Given the description of an element on the screen output the (x, y) to click on. 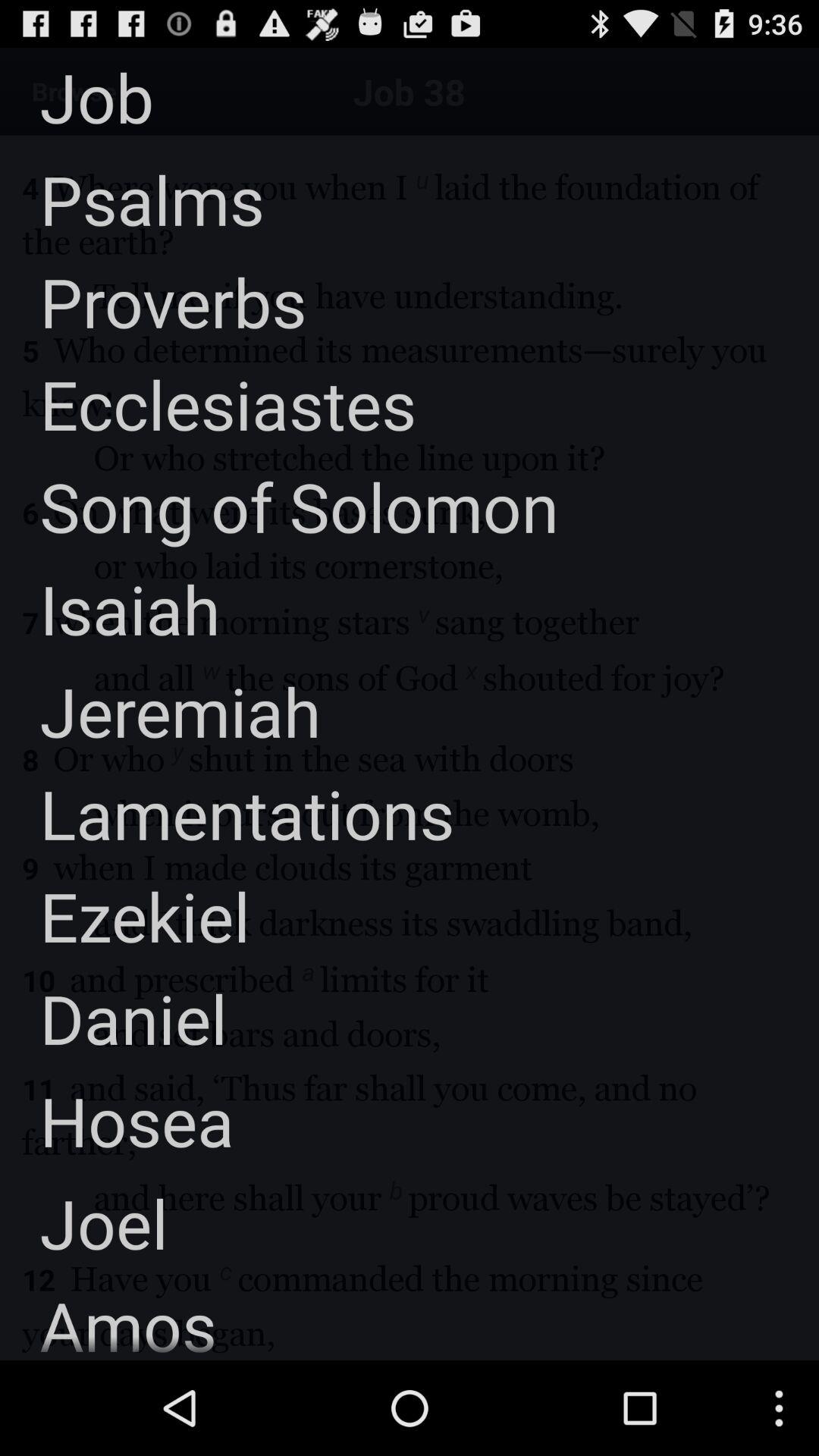
turn on the item below the jeremiah icon (227, 813)
